Given the description of an element on the screen output the (x, y) to click on. 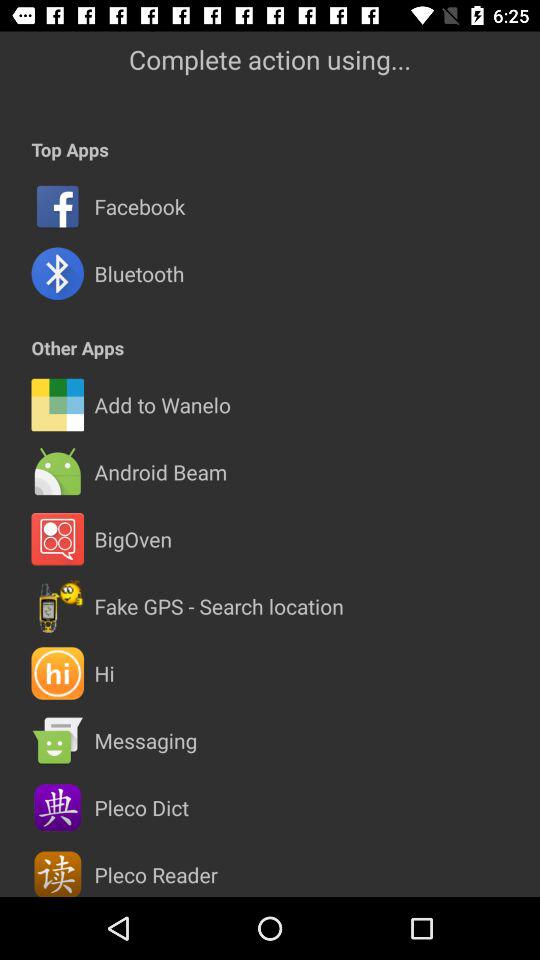
choose the top apps item (69, 149)
